Given the description of an element on the screen output the (x, y) to click on. 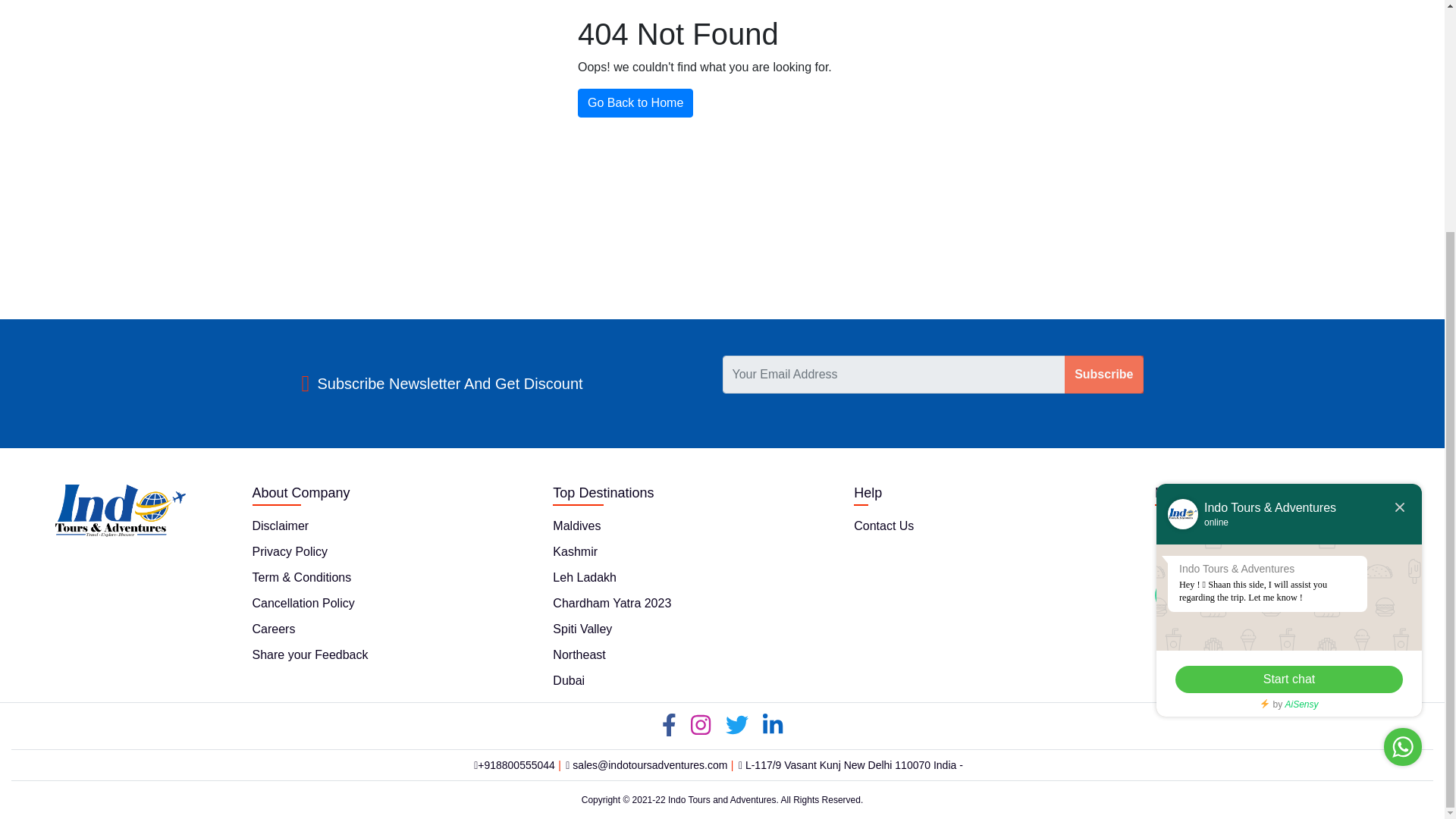
Subscribe (1103, 374)
Go Back to Home (635, 102)
